Given the description of an element on the screen output the (x, y) to click on. 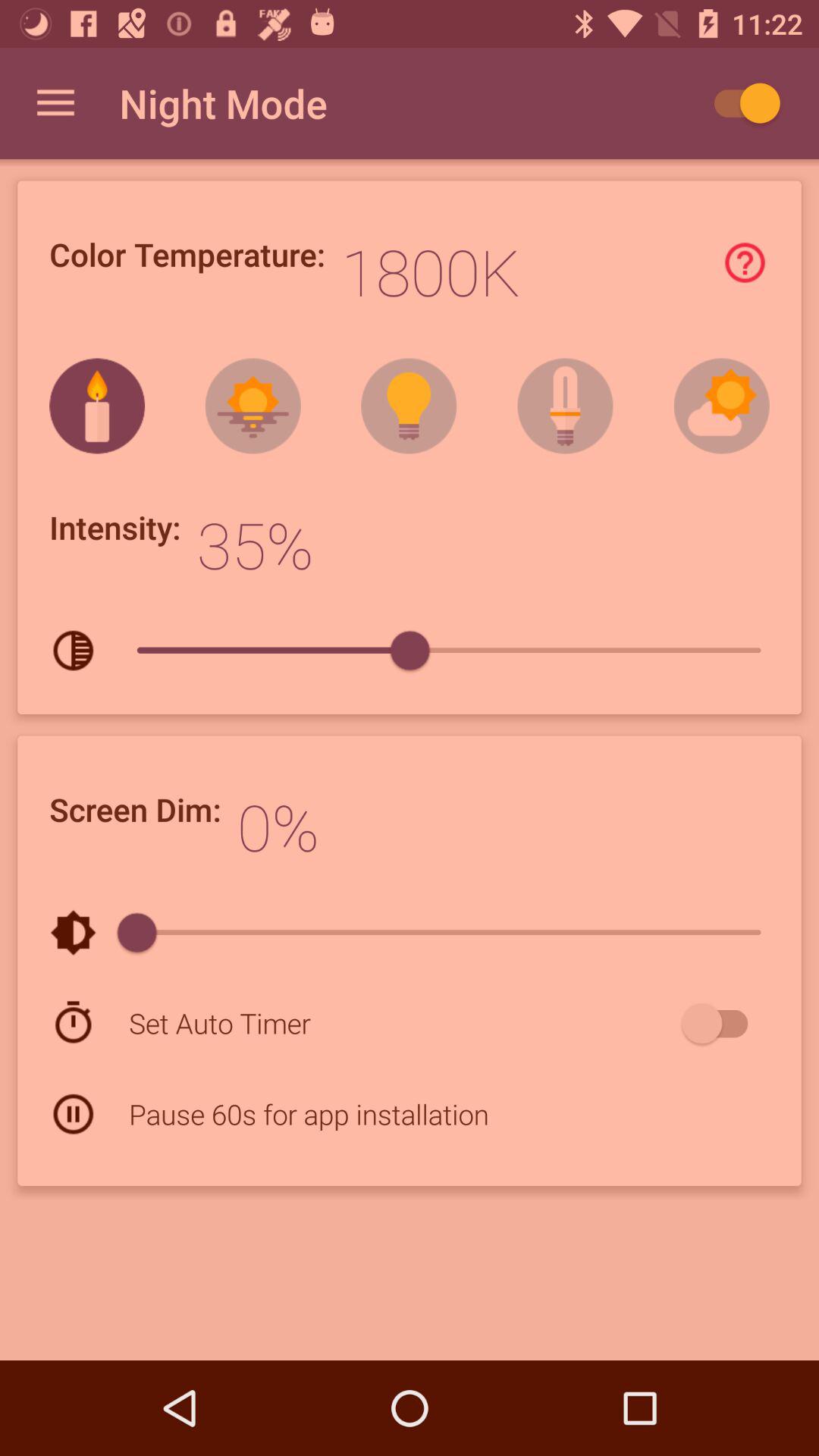
help (744, 262)
